Given the description of an element on the screen output the (x, y) to click on. 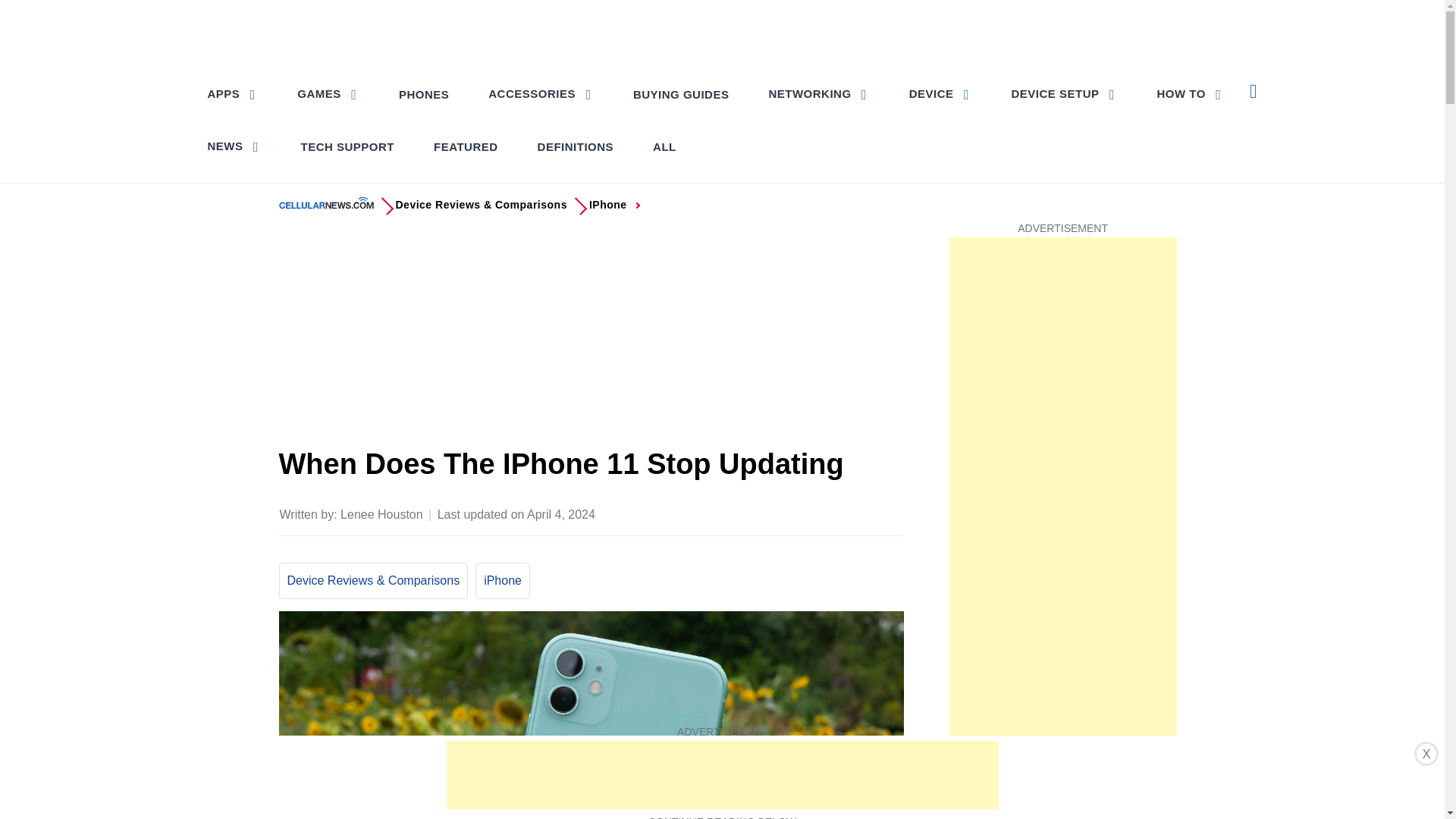
Share on Pinterest (800, 512)
Advertisement (591, 336)
Share on facebook (740, 512)
Share on Whatsapp (829, 512)
DEVICE (940, 93)
Share on twitter (769, 512)
BUYING GUIDES (681, 94)
APPS (233, 93)
ACCESSORIES (540, 93)
Mail the Link (890, 512)
